Given the description of an element on the screen output the (x, y) to click on. 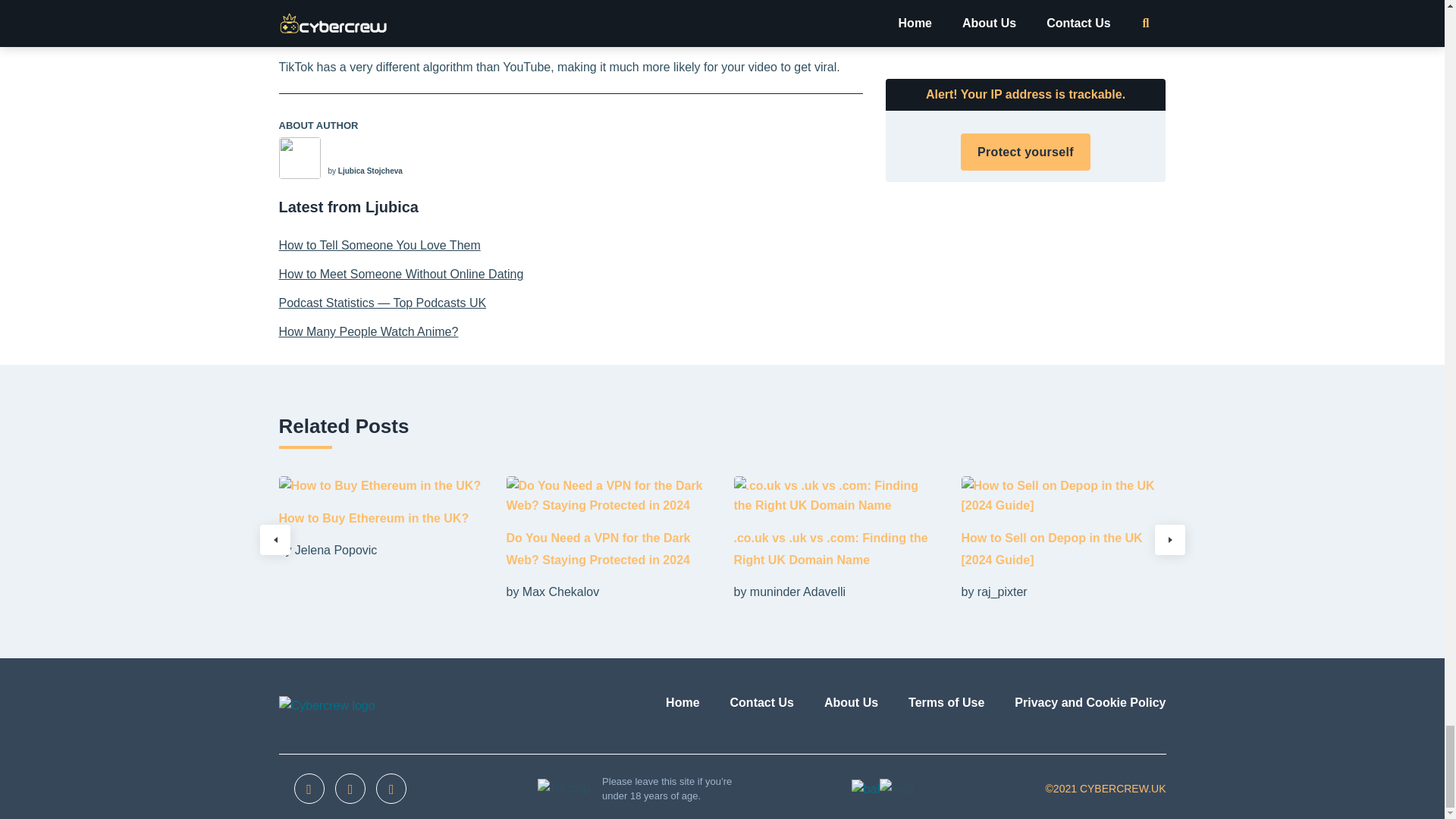
Previous (274, 539)
How to Meet Someone Without Online Dating (571, 274)
How Many People Watch Anime? (571, 332)
How to Tell Someone You Love Them (571, 245)
.co.uk vs .uk vs .com: Finding the Right UK Domain Name (830, 548)
How to Buy Ethereum in the UK? (373, 517)
